Given the description of an element on the screen output the (x, y) to click on. 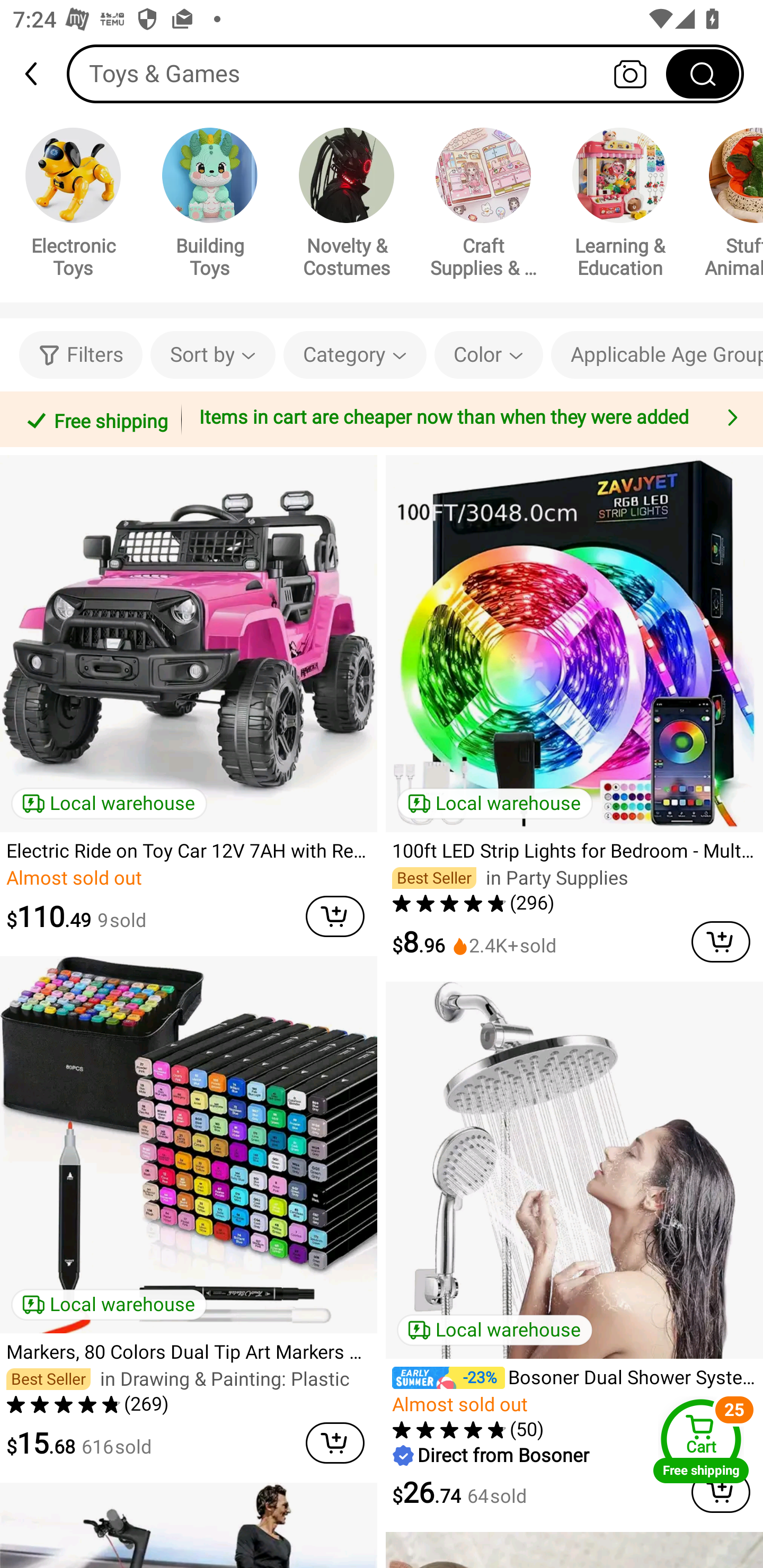
back (39, 73)
Toys & Games (405, 73)
Electronic Toys (73, 205)
Building Toys (209, 205)
Novelty & Costumes (346, 205)
Craft Supplies & Stickers (483, 205)
Learning & Education (619, 205)
Filters (80, 354)
Sort by (212, 354)
Category (354, 354)
Color (488, 354)
Applicable Age Group (656, 354)
 Free shipping (93, 418)
Cart Free shipping Cart (701, 1440)
